Given the description of an element on the screen output the (x, y) to click on. 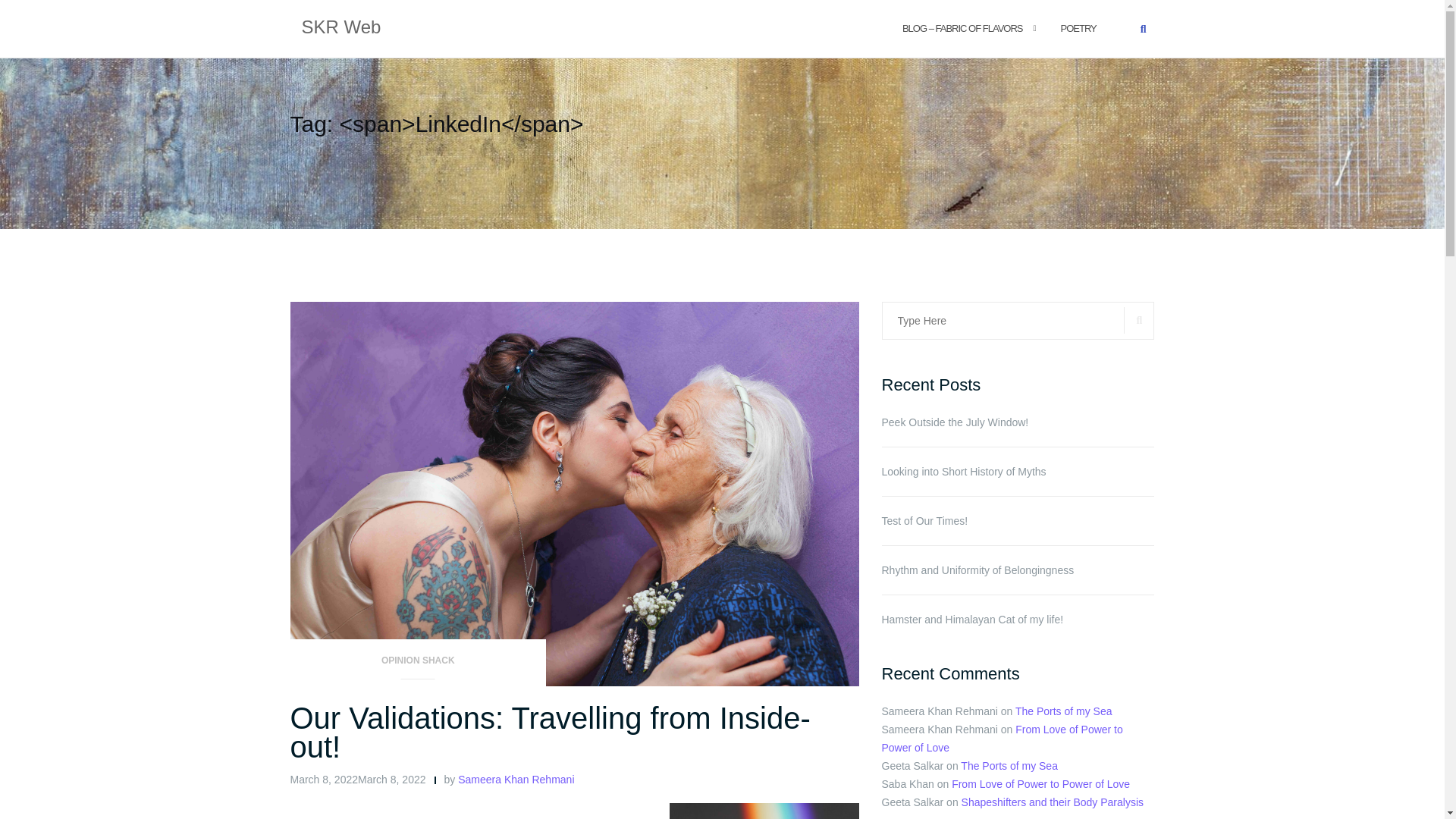
Hamster and Himalayan Cat of my life! (1017, 619)
Sameera Khan Rehmani (515, 779)
From Love of Power to Power of Love (1001, 738)
From Love of Power to Power of Love (1040, 784)
OPINION SHACK (417, 665)
Test of Our Times! (1017, 520)
SEARCH (1139, 320)
Peek Outside the July Window! (1017, 422)
SKR Web (341, 28)
The Ports of my Sea (1063, 711)
